Given the description of an element on the screen output the (x, y) to click on. 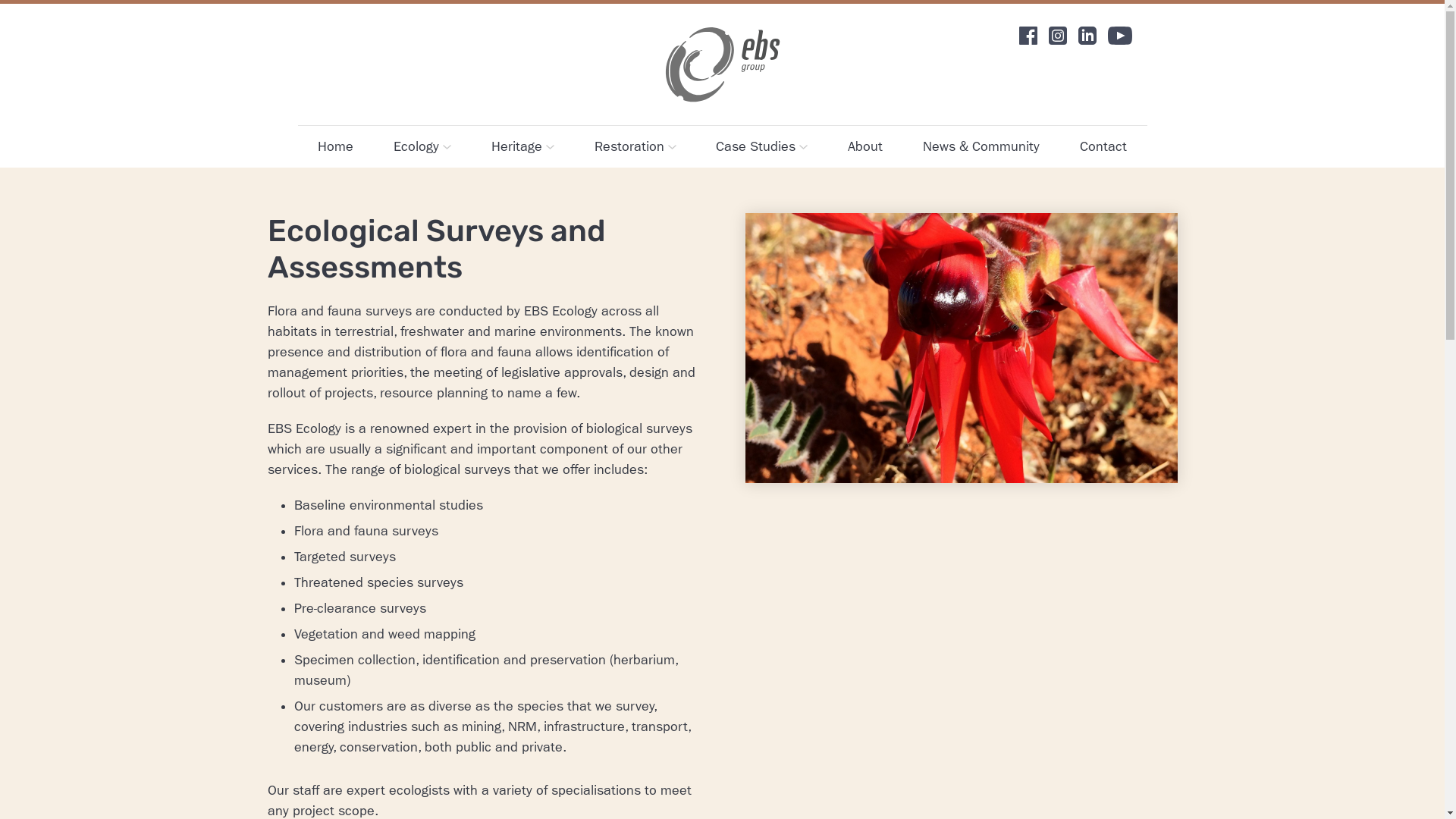
Contact Element type: text (1103, 146)
Ecology Element type: text (422, 146)
Home Element type: text (335, 146)
Case Studies Element type: text (761, 146)
About Element type: text (865, 146)
News & Community Element type: text (981, 146)
Restoration Element type: text (635, 146)
Heritage Element type: text (522, 146)
